Given the description of an element on the screen output the (x, y) to click on. 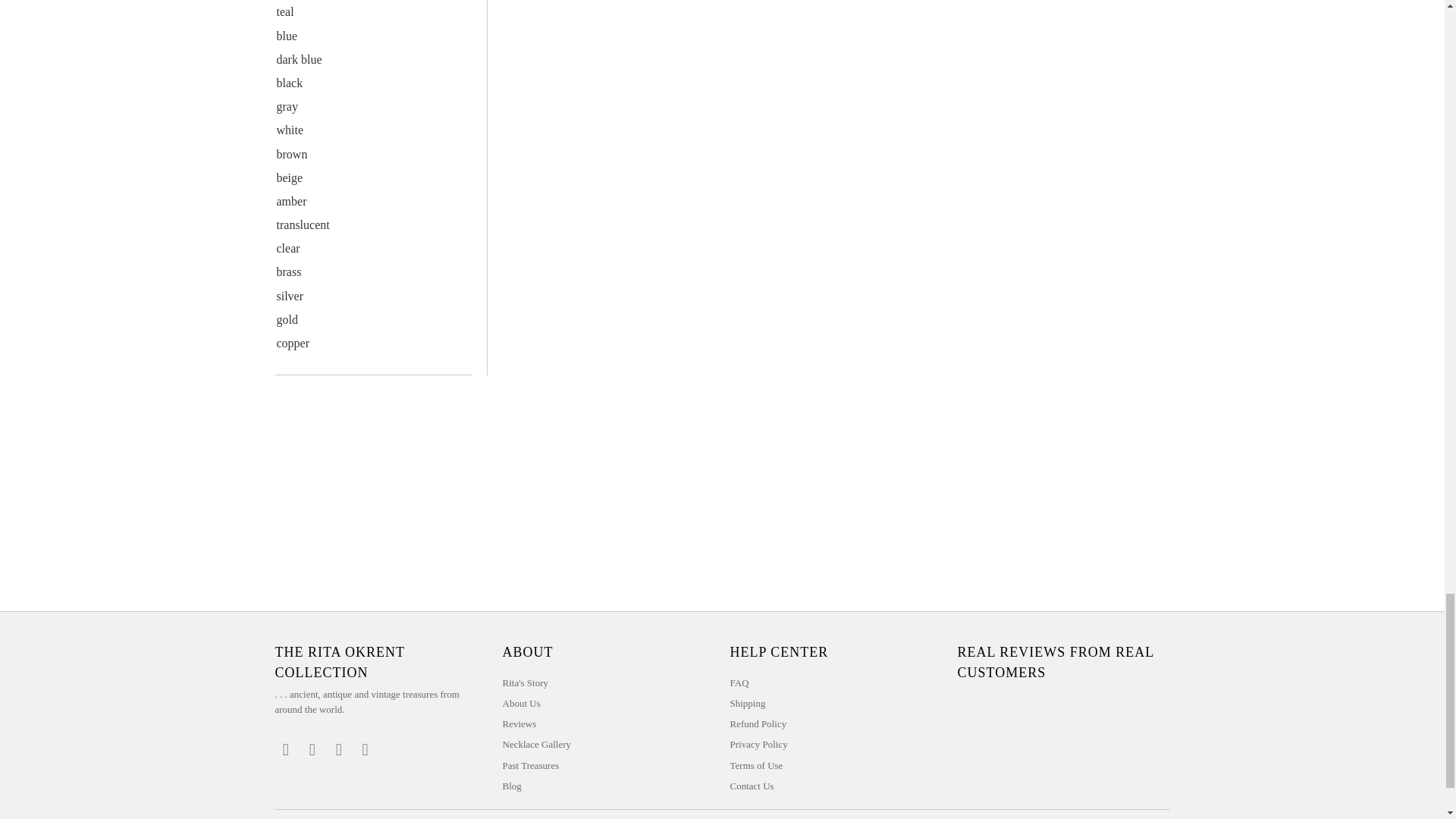
Rita Okrent Collection on Facebook (286, 750)
Rita Okrent Collection on Instagram (338, 750)
Email Rita Okrent Collection (365, 750)
Rita Okrent Collection on Pinterest (312, 750)
